Given the description of an element on the screen output the (x, y) to click on. 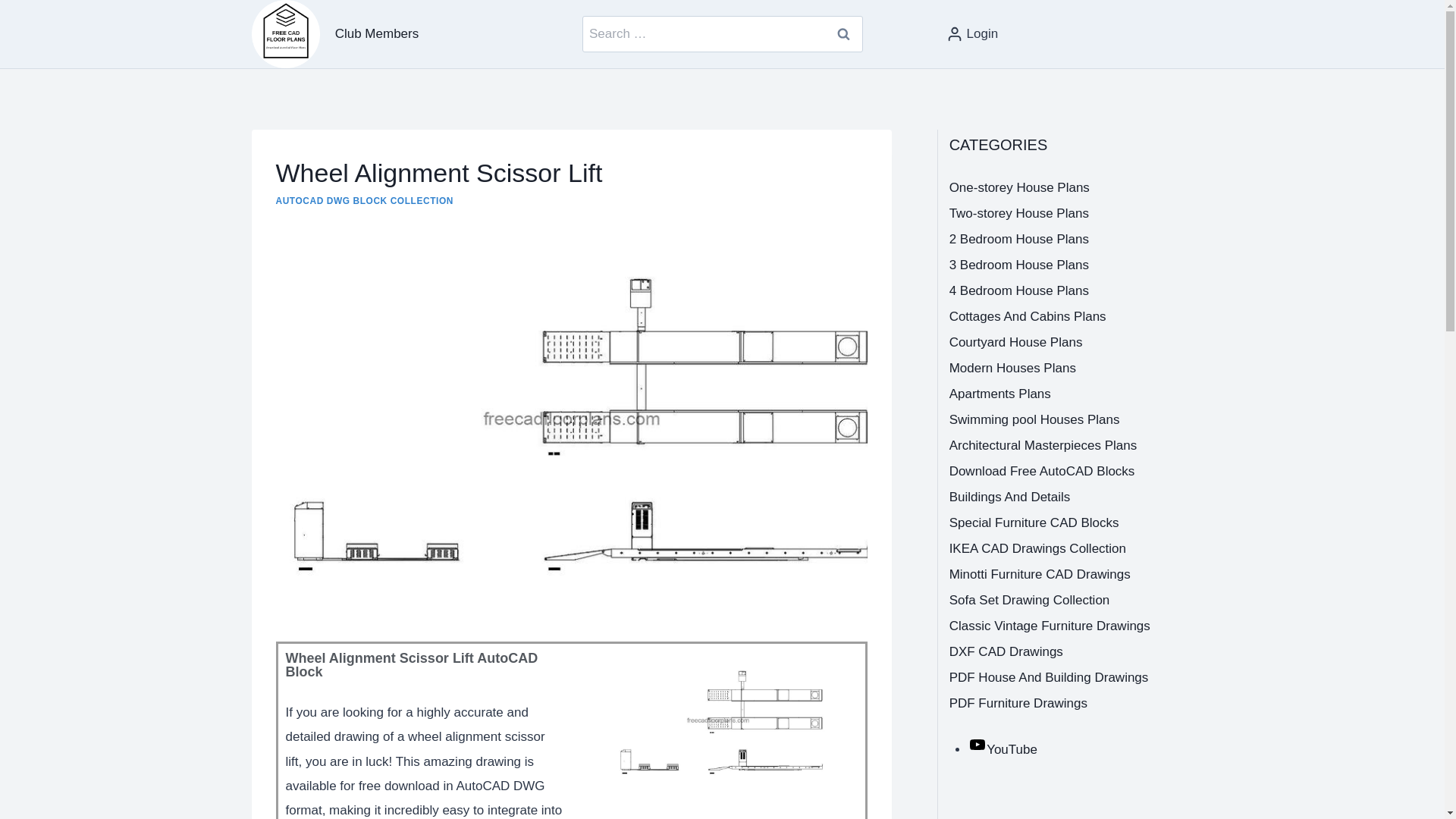
AUTOCAD DWG BLOCK COLLECTION (364, 200)
Search (844, 33)
Login (972, 34)
Club Members (376, 33)
Search (844, 33)
Search (844, 33)
Wheel Alignment Scissor Lift (717, 720)
